Given the description of an element on the screen output the (x, y) to click on. 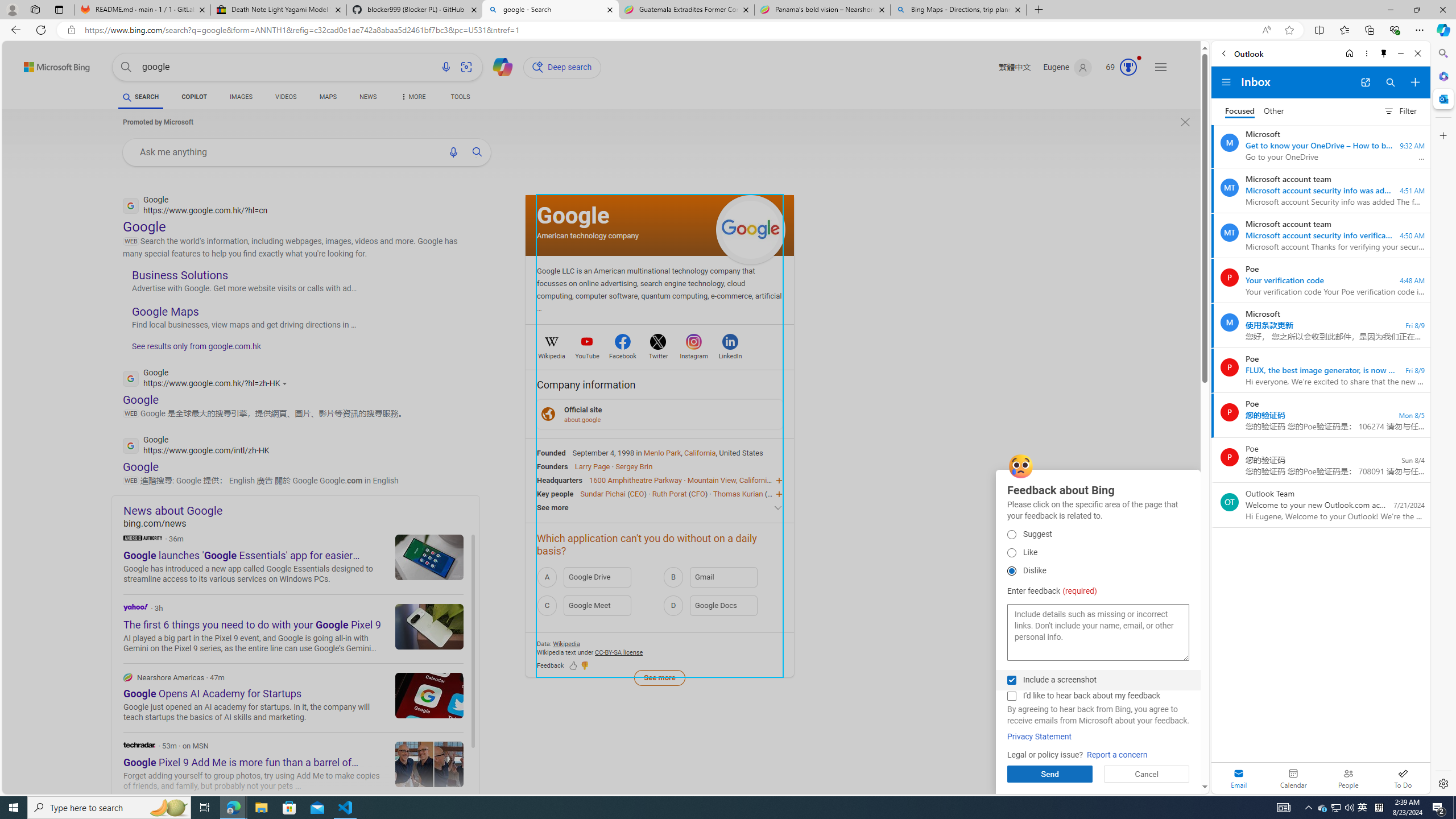
Cancel (1146, 773)
Other (1273, 110)
Selected mail module (1238, 777)
Send (1049, 773)
Compose new mail (1414, 82)
